Given the description of an element on the screen output the (x, y) to click on. 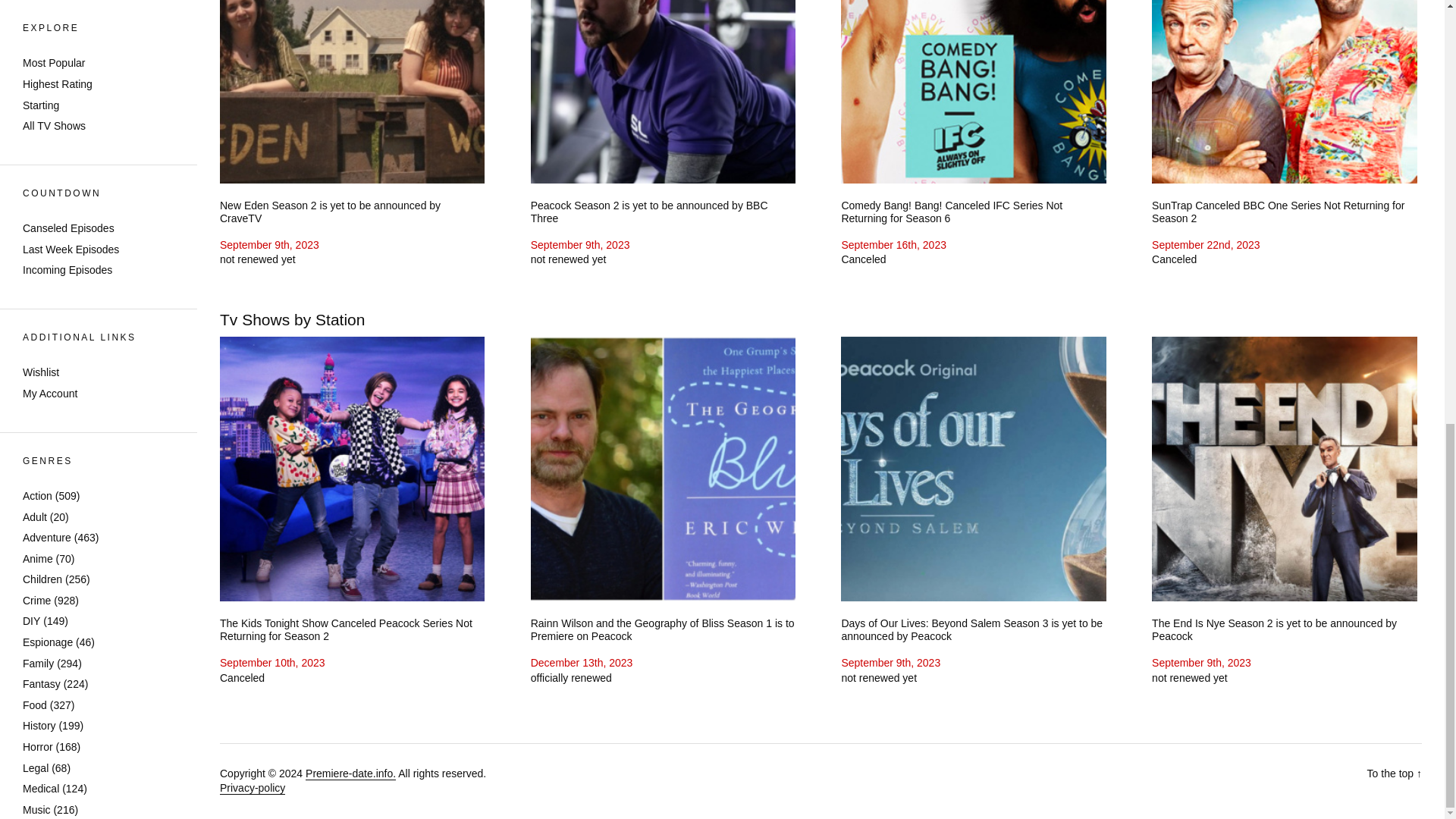
Science-Fiction (59, 75)
Thriller (39, 138)
Romance (45, 55)
Premiere-date.info (350, 773)
Supernatural (52, 117)
Mystery (41, 12)
Sports (37, 96)
Nature (39, 33)
